Given the description of an element on the screen output the (x, y) to click on. 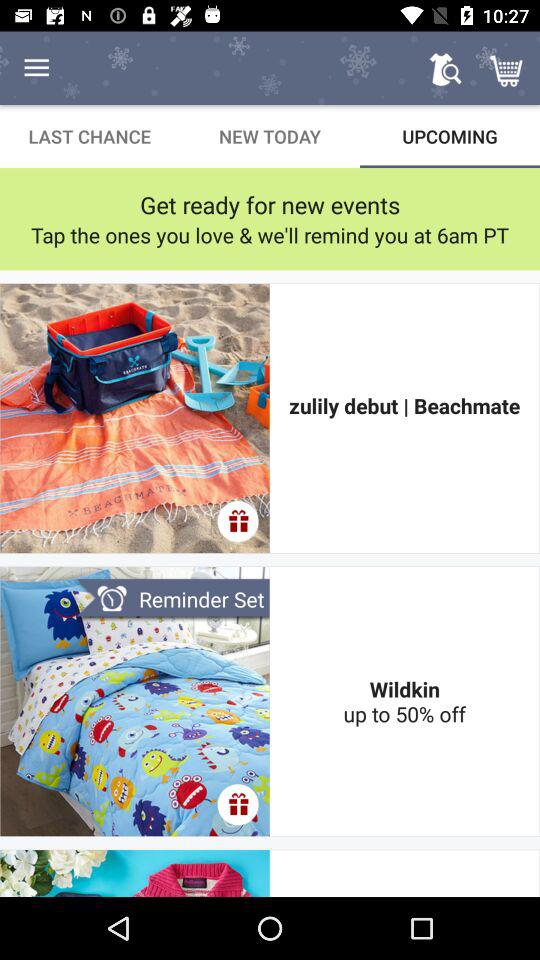
scroll until the tap the ones item (270, 234)
